Given the description of an element on the screen output the (x, y) to click on. 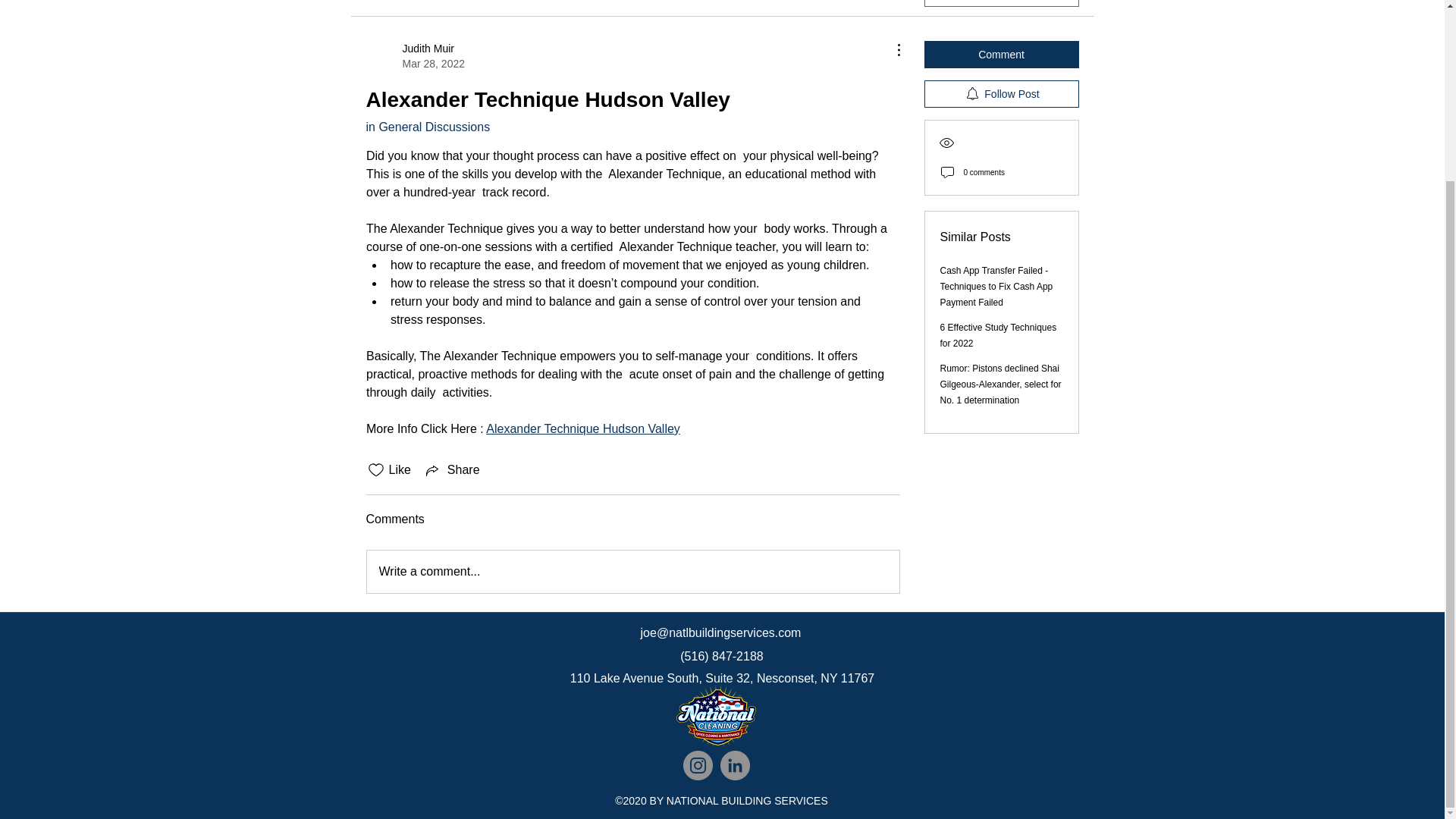
6 Effective Study Techniques for 2022 (414, 55)
All Posts (998, 335)
in General Discussions (388, 1)
Follow Post (427, 126)
long-island-office-cleaning.png (1000, 93)
Share (716, 715)
My Posts (451, 470)
Write a comment... (455, 1)
